Given the description of an element on the screen output the (x, y) to click on. 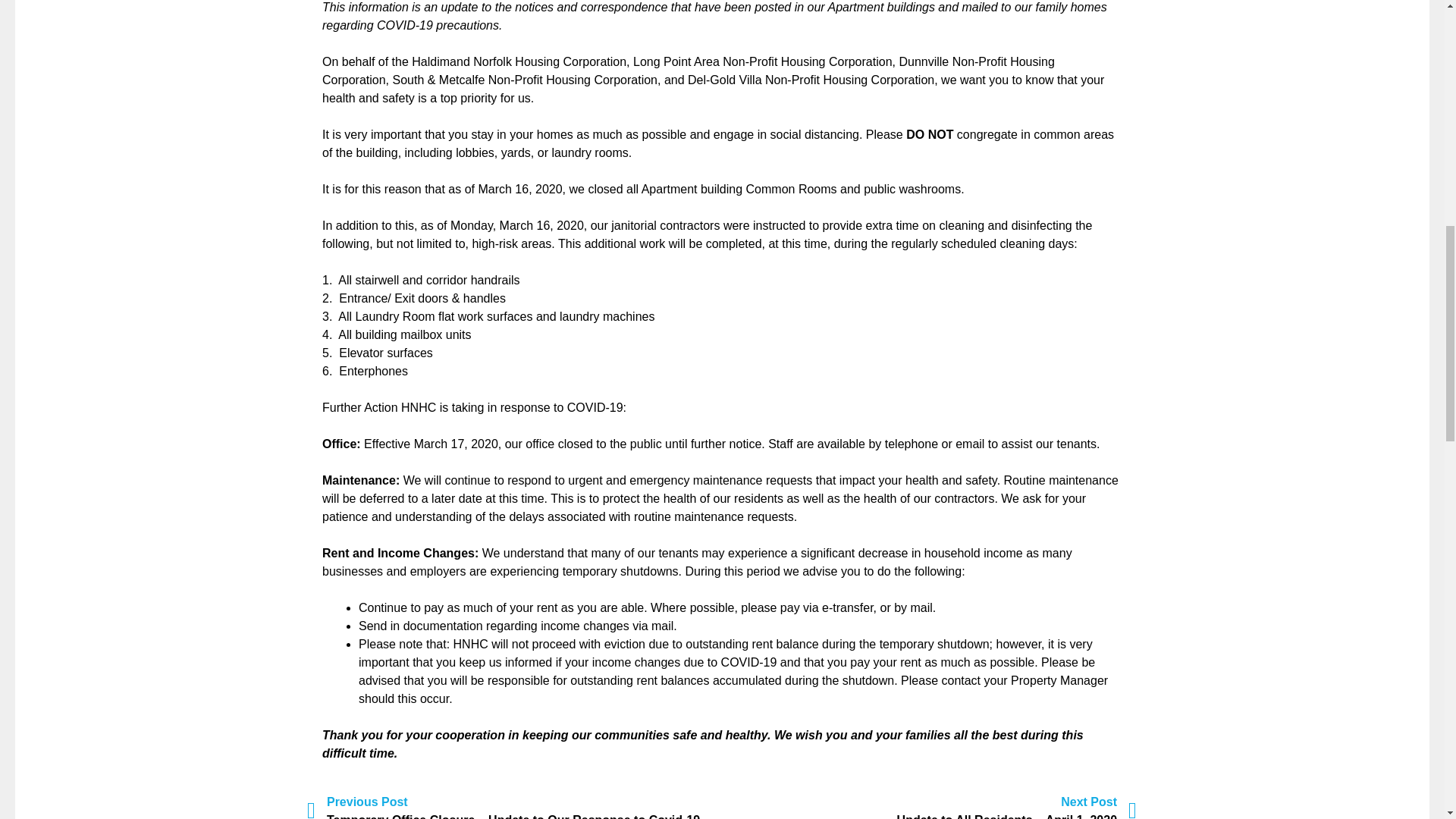
Scroll back to top (1406, 720)
